Given the description of an element on the screen output the (x, y) to click on. 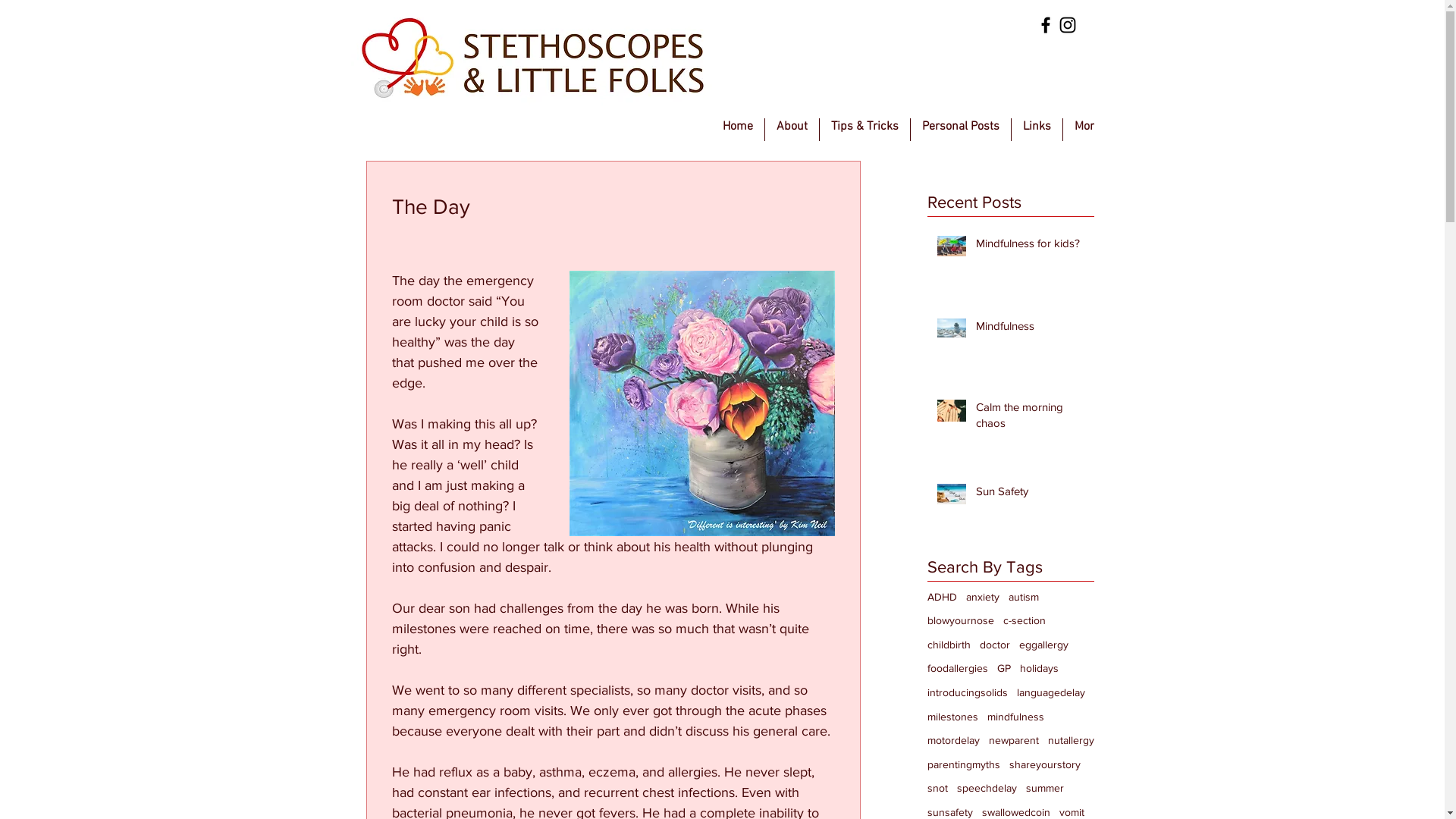
summer Element type: text (1044, 788)
milestones Element type: text (951, 716)
mindfulness Element type: text (1015, 716)
Mindfulness Element type: text (1029, 328)
newparent Element type: text (1013, 740)
doctor Element type: text (994, 644)
blowyournose Element type: text (959, 620)
Mindfulness for kids? Element type: text (1029, 246)
Personal Posts Element type: text (960, 129)
foodallergies Element type: text (956, 668)
languagedelay Element type: text (1050, 692)
ADHD Element type: text (941, 597)
shareyourstory Element type: text (1043, 764)
Sun Safety Element type: text (1029, 494)
eggallergy Element type: text (1043, 644)
snot Element type: text (936, 788)
speechdelay Element type: text (986, 788)
autism Element type: text (1023, 597)
motordelay Element type: text (952, 740)
parentingmyths Element type: text (962, 764)
introducingsolids Element type: text (966, 692)
Tips & Tricks Element type: text (864, 129)
About Element type: text (791, 129)
c-section Element type: text (1023, 620)
holidays Element type: text (1038, 668)
Home Element type: text (737, 129)
Links Element type: text (1036, 129)
Calm the morning chaos Element type: text (1029, 417)
GP Element type: text (1003, 668)
childbirth Element type: text (947, 644)
nutallergy Element type: text (1071, 740)
anxiety Element type: text (982, 597)
